Given the description of an element on the screen output the (x, y) to click on. 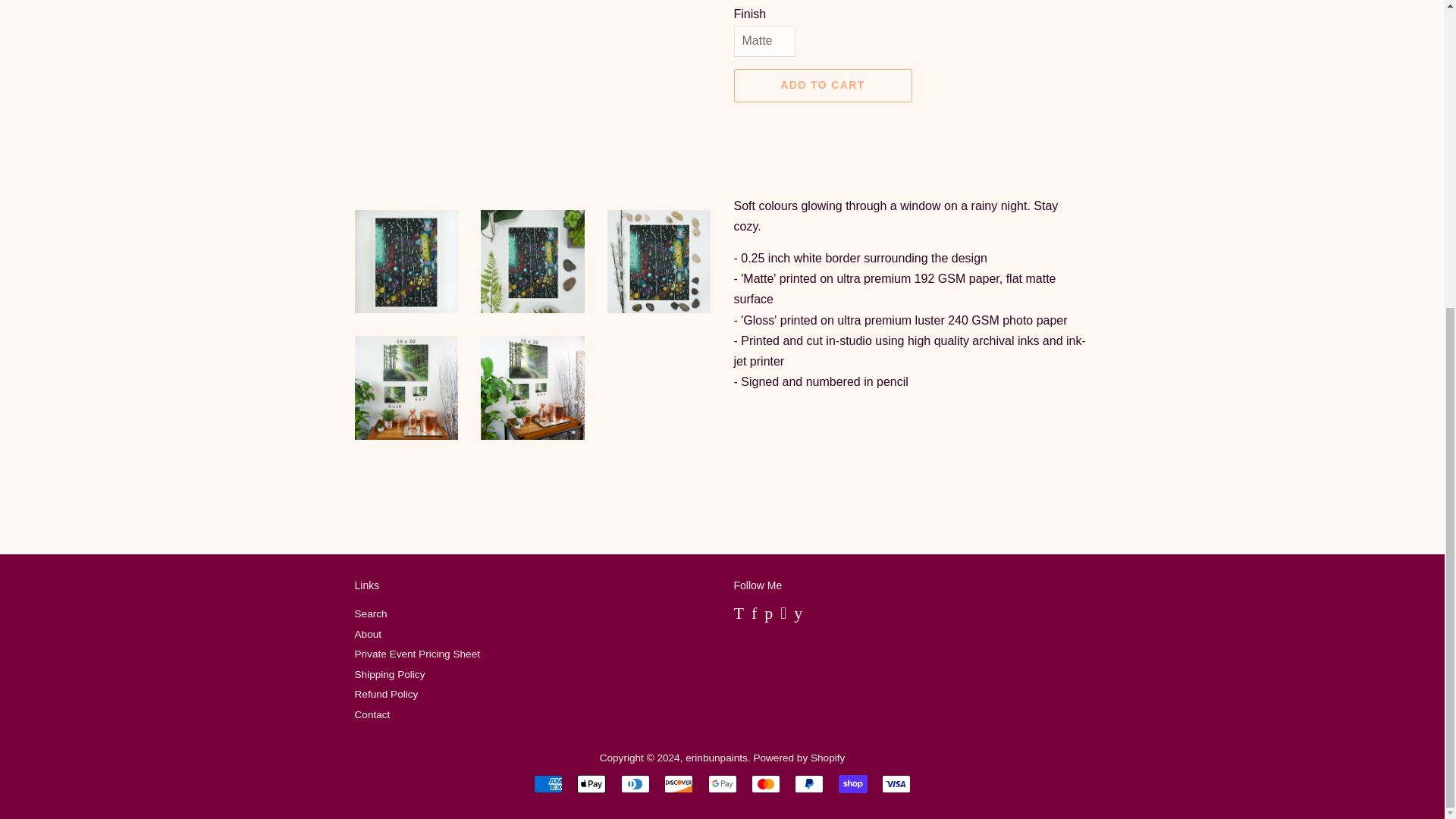
American Express (548, 783)
Apple Pay (590, 783)
PayPal (809, 783)
Mastercard (765, 783)
Diners Club (635, 783)
Google Pay (721, 783)
Discover (678, 783)
Visa (896, 783)
Shop Pay (852, 783)
